Given the description of an element on the screen output the (x, y) to click on. 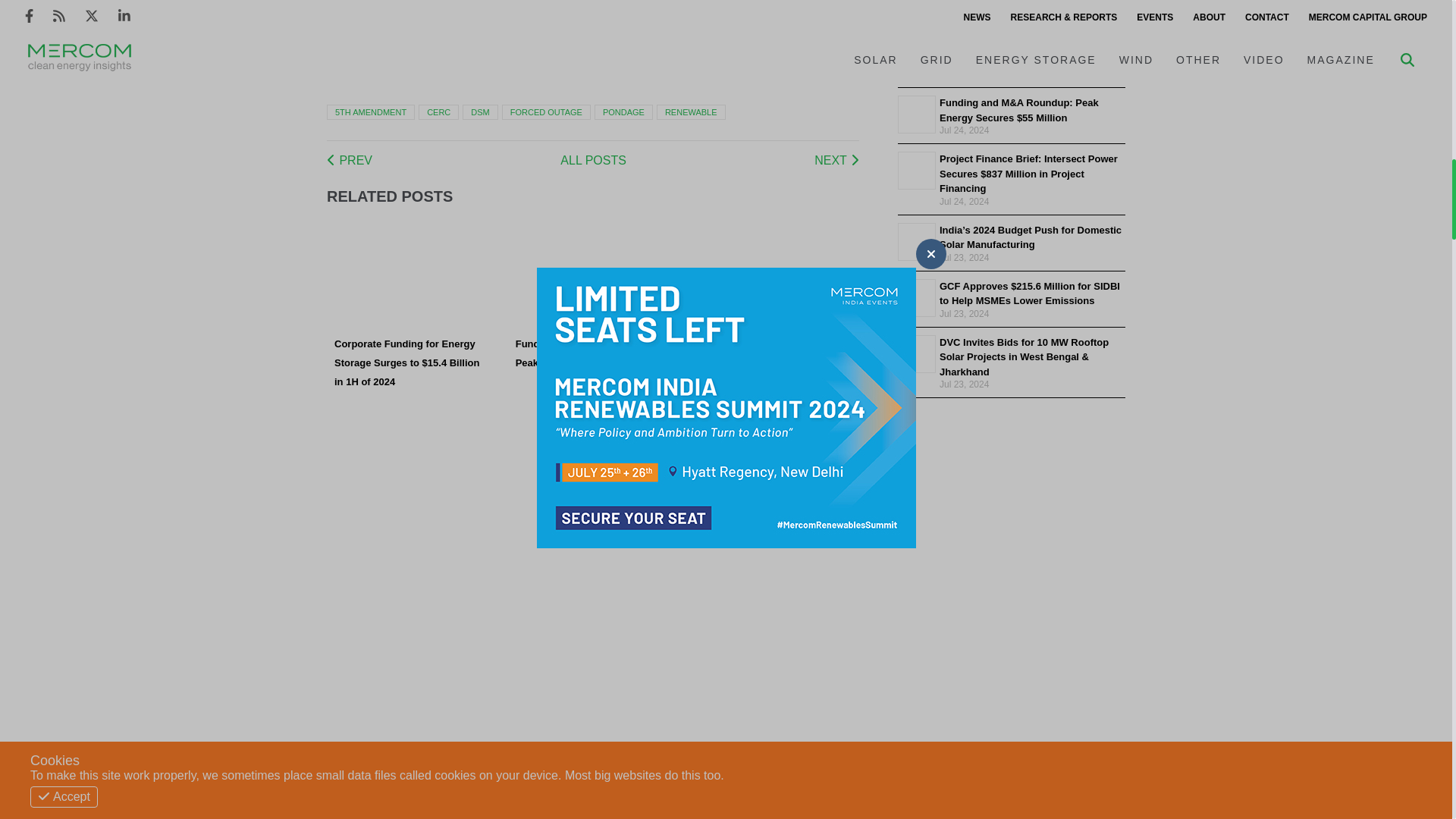
3rd party ad content (704, 6)
